Given the description of an element on the screen output the (x, y) to click on. 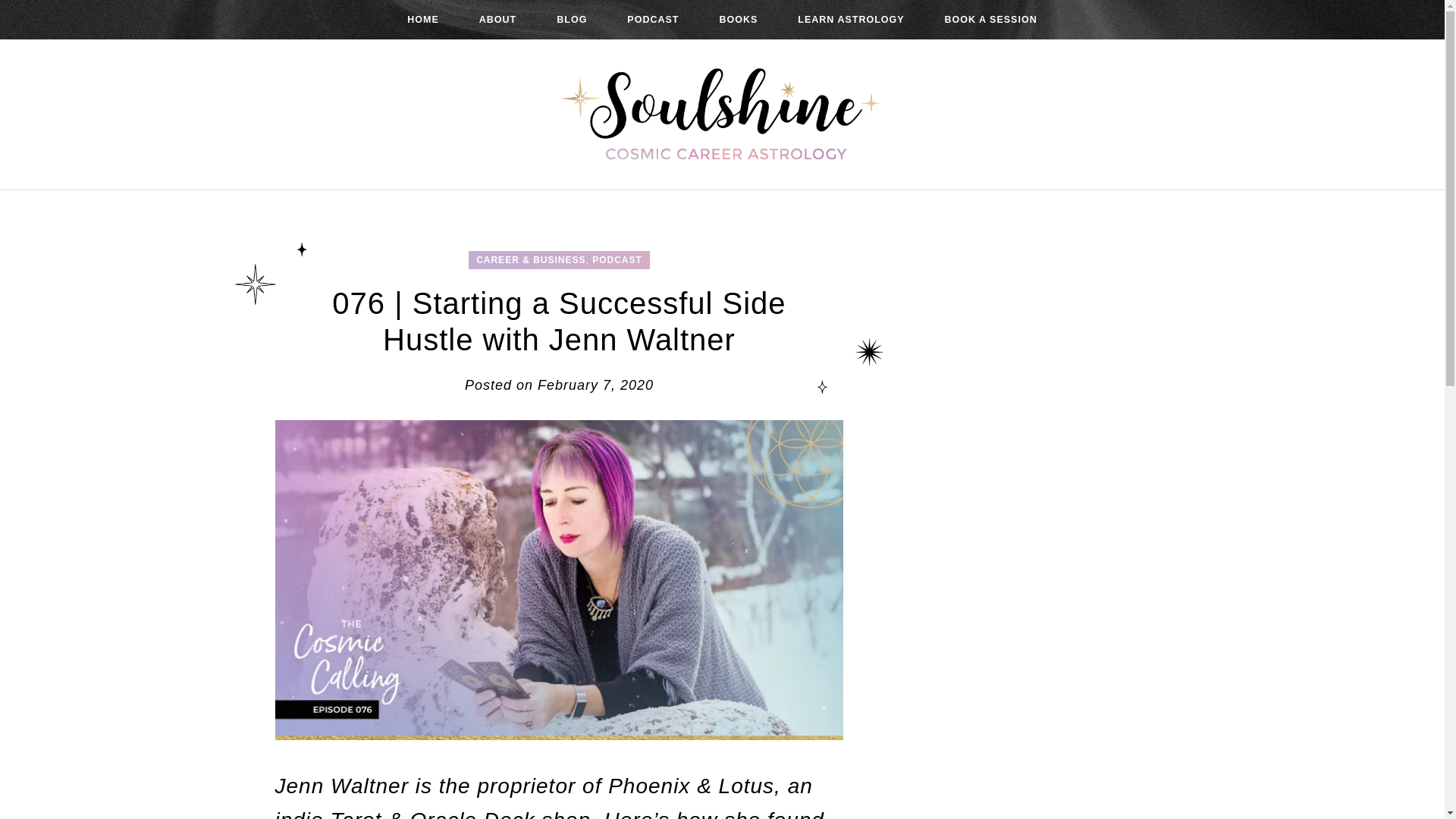
PODCAST (652, 19)
BOOKS (738, 19)
HOME (422, 19)
ABOUT (497, 19)
PODCAST (617, 259)
BLOG (571, 19)
BOOK A SESSION (991, 19)
LEARN ASTROLOGY (850, 19)
